Given the description of an element on the screen output the (x, y) to click on. 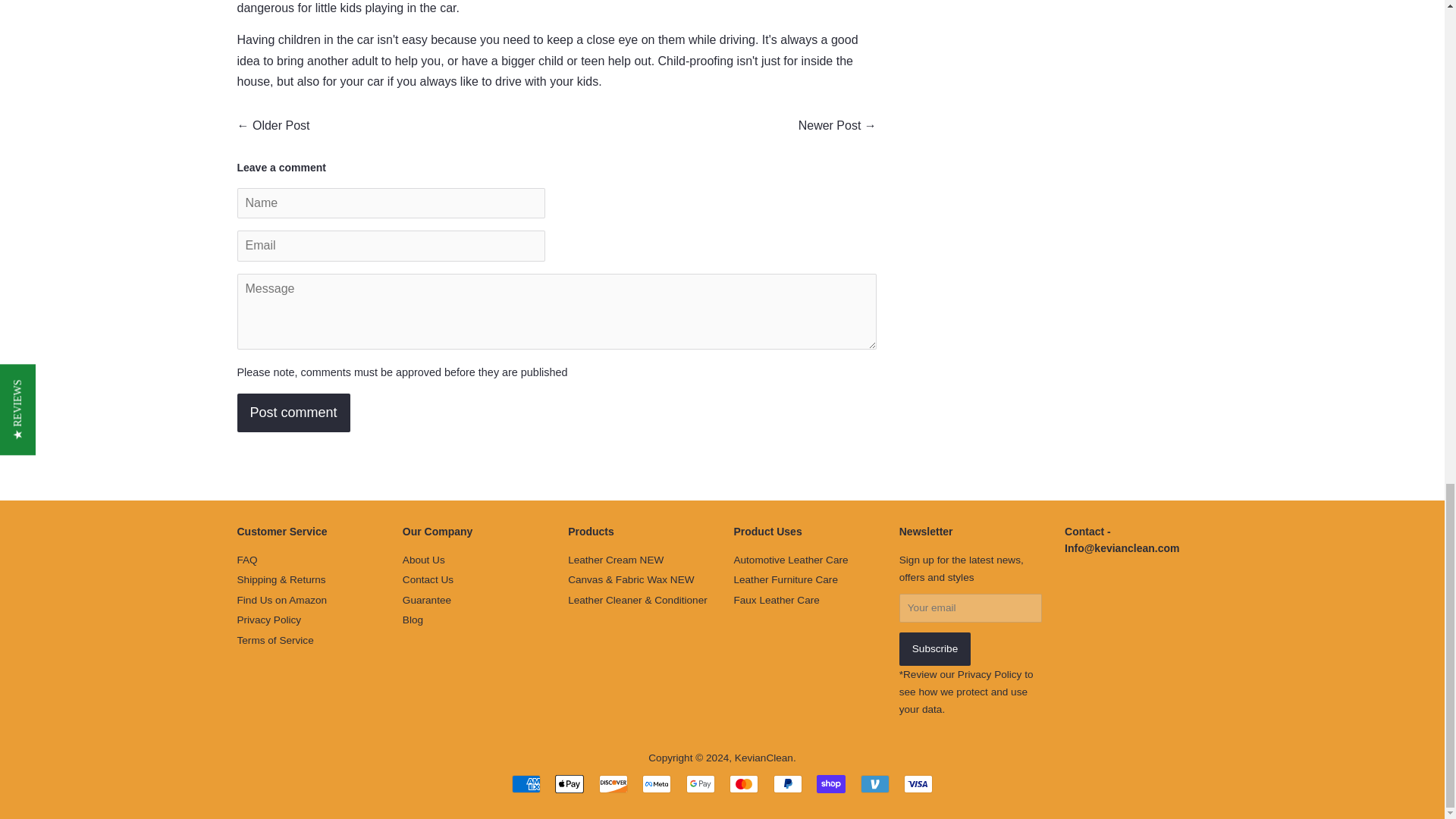
PayPal (787, 783)
Venmo (874, 783)
Apple Pay (568, 783)
Subscribe (935, 648)
American Express (526, 783)
Shop Pay (830, 783)
Visa (918, 783)
Discover (612, 783)
Meta Pay (656, 783)
Post comment (292, 412)
